Given the description of an element on the screen output the (x, y) to click on. 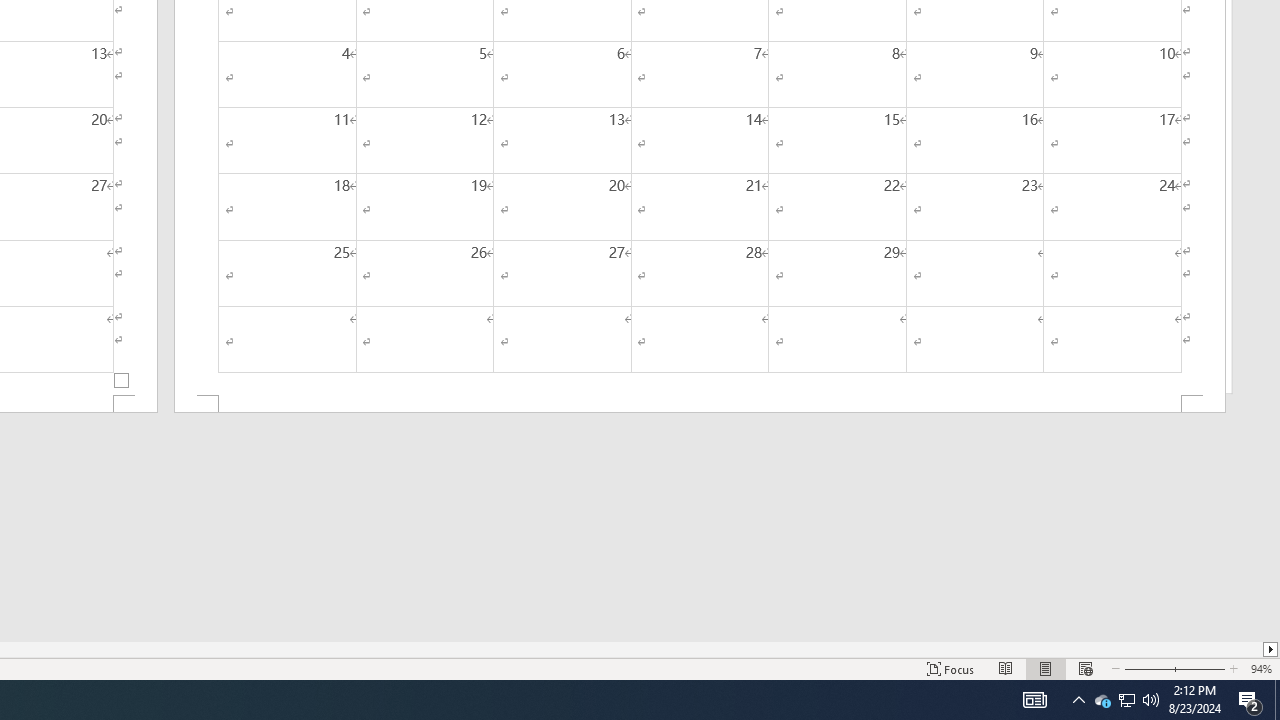
Footer -Section 2- (700, 404)
Column right (1271, 649)
